Given the description of an element on the screen output the (x, y) to click on. 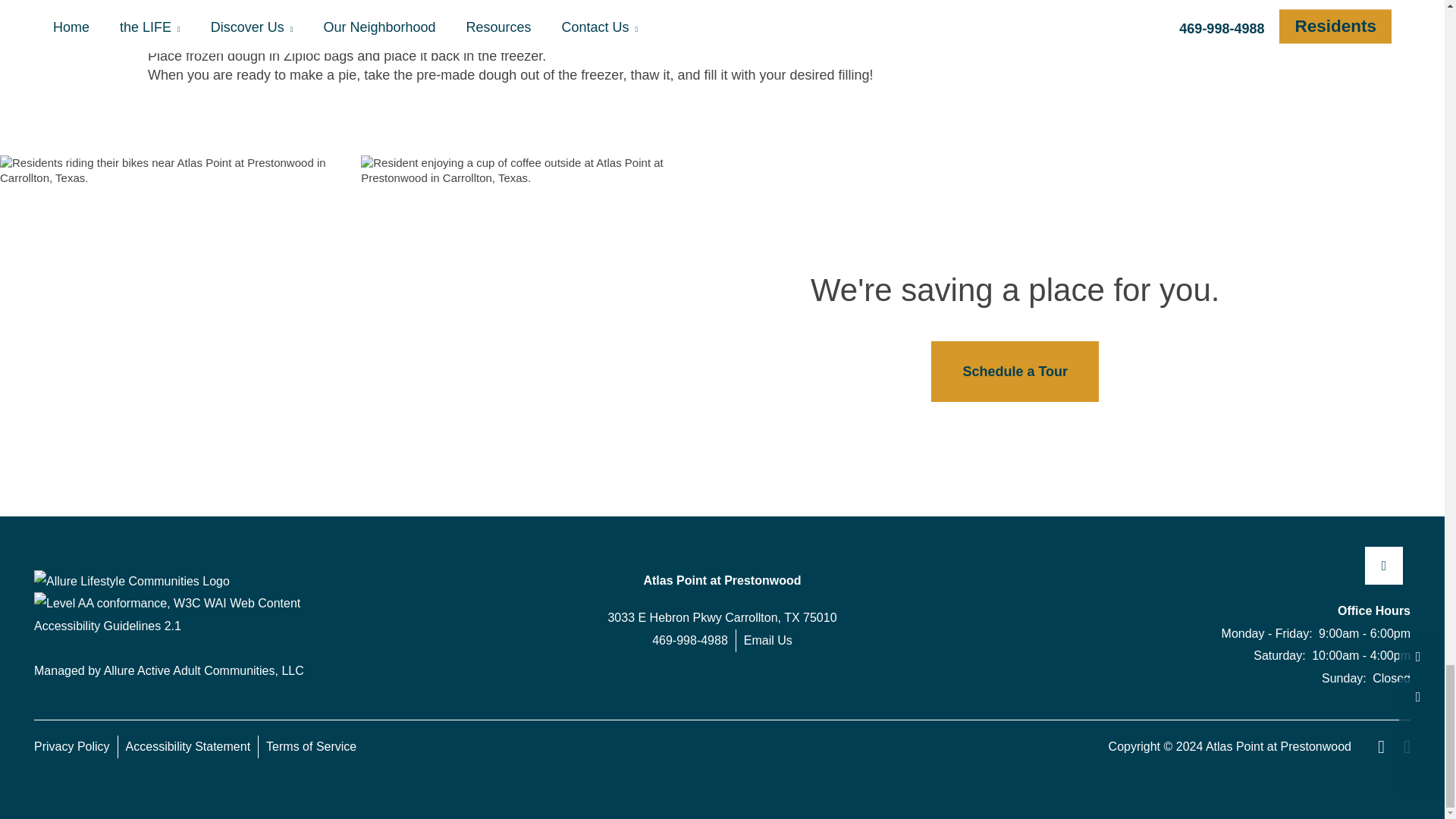
Google My Business (1384, 565)
Email Us (768, 640)
Terms of Service (311, 746)
Schedule a Tour (1015, 371)
Property Phone Number (690, 640)
469-998-4988 (690, 640)
3033 E Hebron Pkwy Carrollton, TX 75010 (722, 617)
Equal Opportunity Housing (1375, 746)
Explanation of WCAG 2 Level AA conformance (192, 614)
Privacy Policy (75, 746)
